Given the description of an element on the screen output the (x, y) to click on. 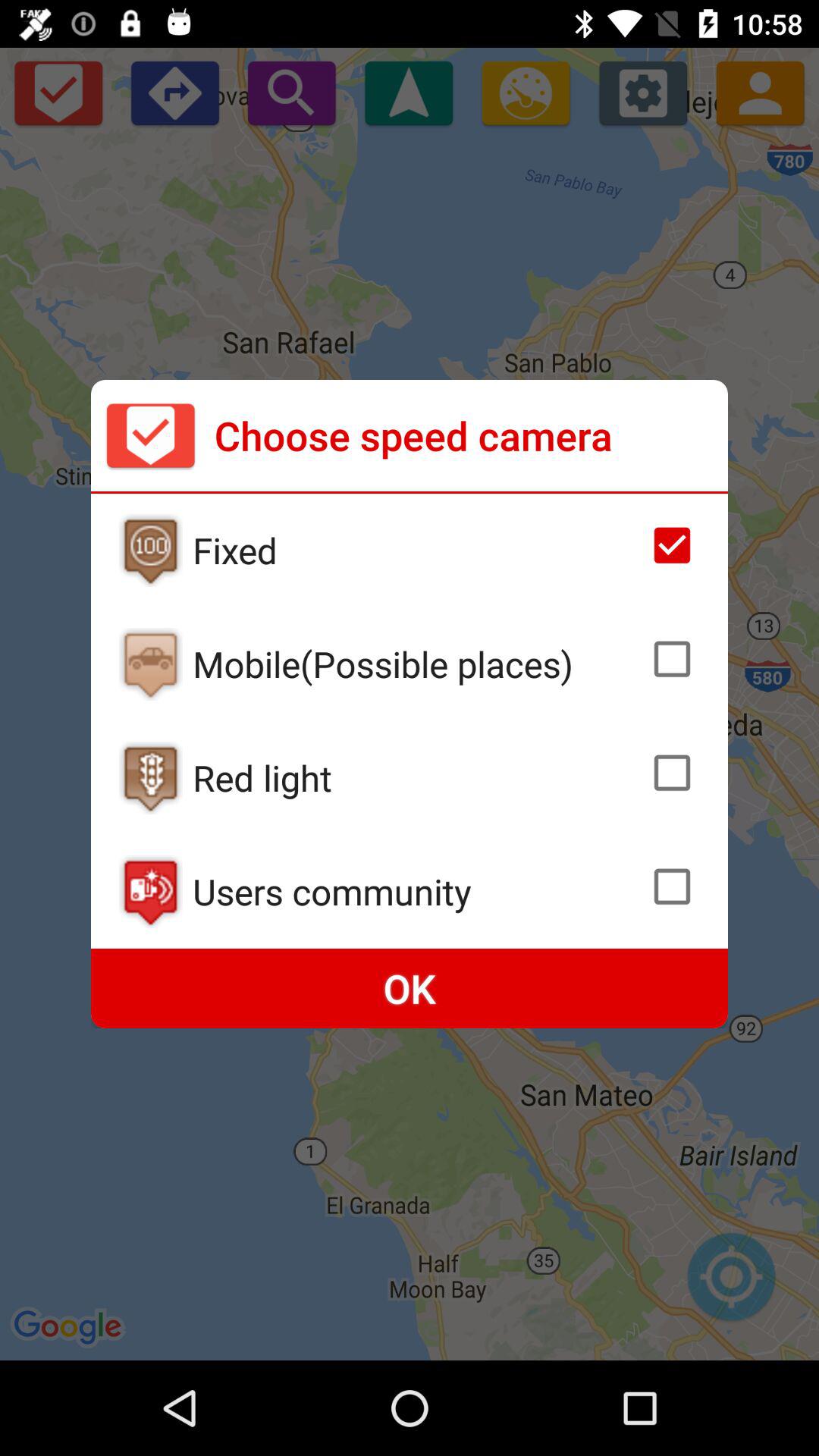
toggle check box (672, 886)
